Given the description of an element on the screen output the (x, y) to click on. 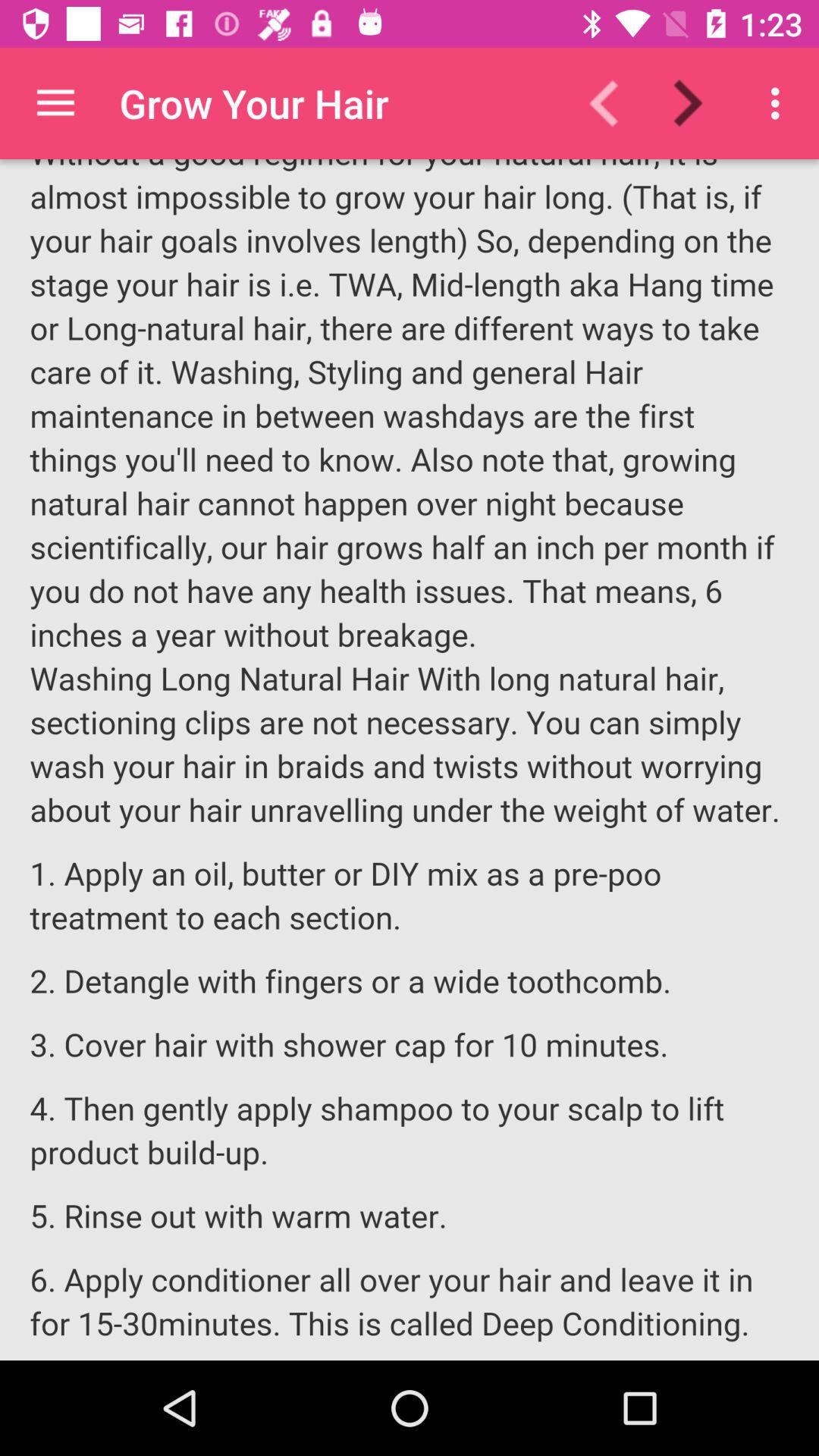
go back (613, 103)
